Given the description of an element on the screen output the (x, y) to click on. 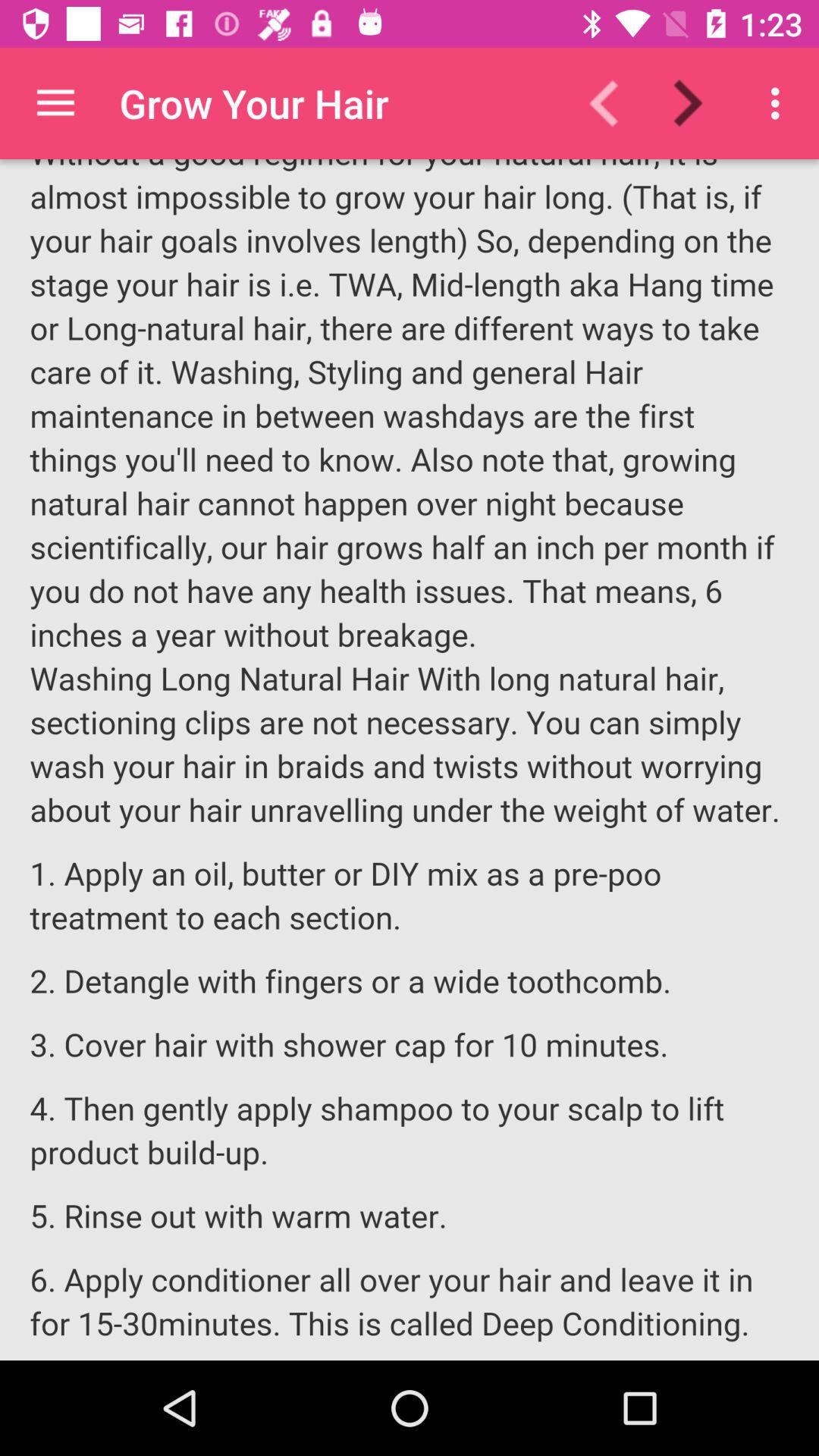
go back (613, 103)
